Given the description of an element on the screen output the (x, y) to click on. 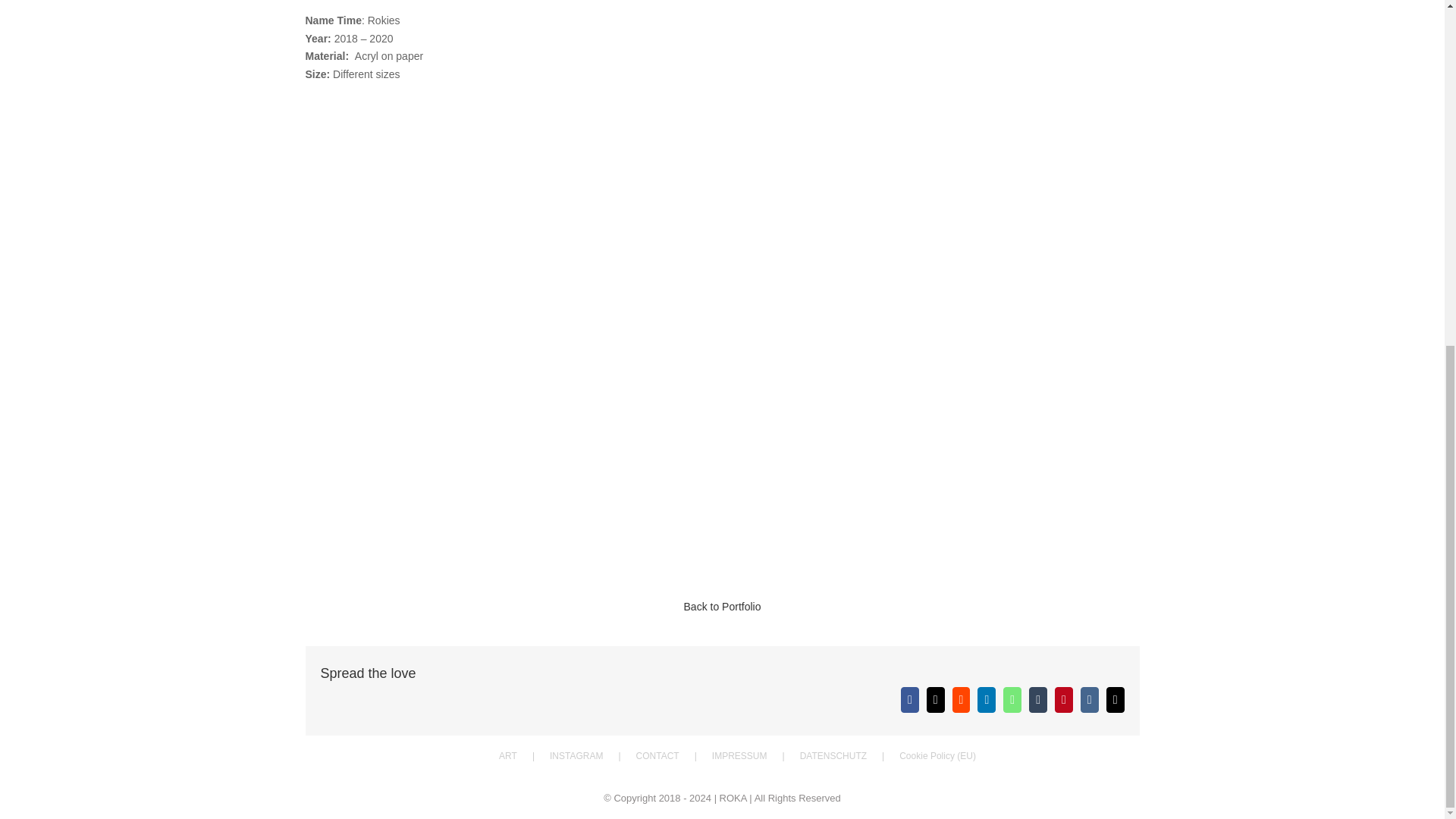
IMPRESSUM (755, 755)
DATENSCHUTZ (849, 755)
ART (524, 755)
Back to Portfolio (721, 622)
INSTAGRAM (593, 755)
Back to Portfolio (722, 606)
CONTACT (673, 755)
